Given the description of an element on the screen output the (x, y) to click on. 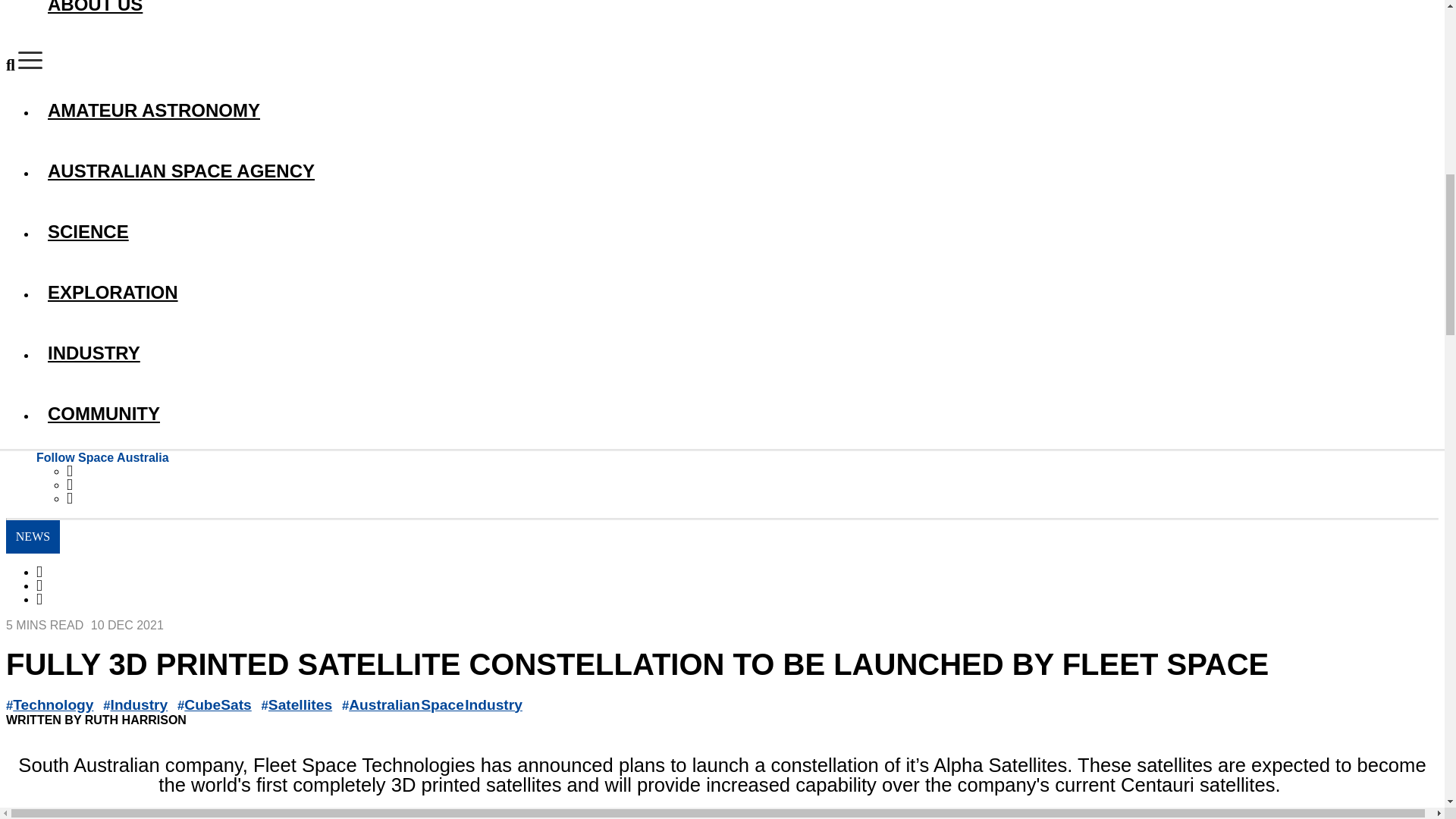
SCIENCE (737, 231)
Technology (53, 704)
AUSTRALIAN SPACE AGENCY (737, 171)
Australian Space Industry (435, 704)
INDUSTRY (737, 353)
Satellites (299, 704)
ABOUT US (737, 15)
Industry (139, 704)
EXPLORATION (737, 292)
AMATEUR ASTRONOMY (737, 110)
